Given the description of an element on the screen output the (x, y) to click on. 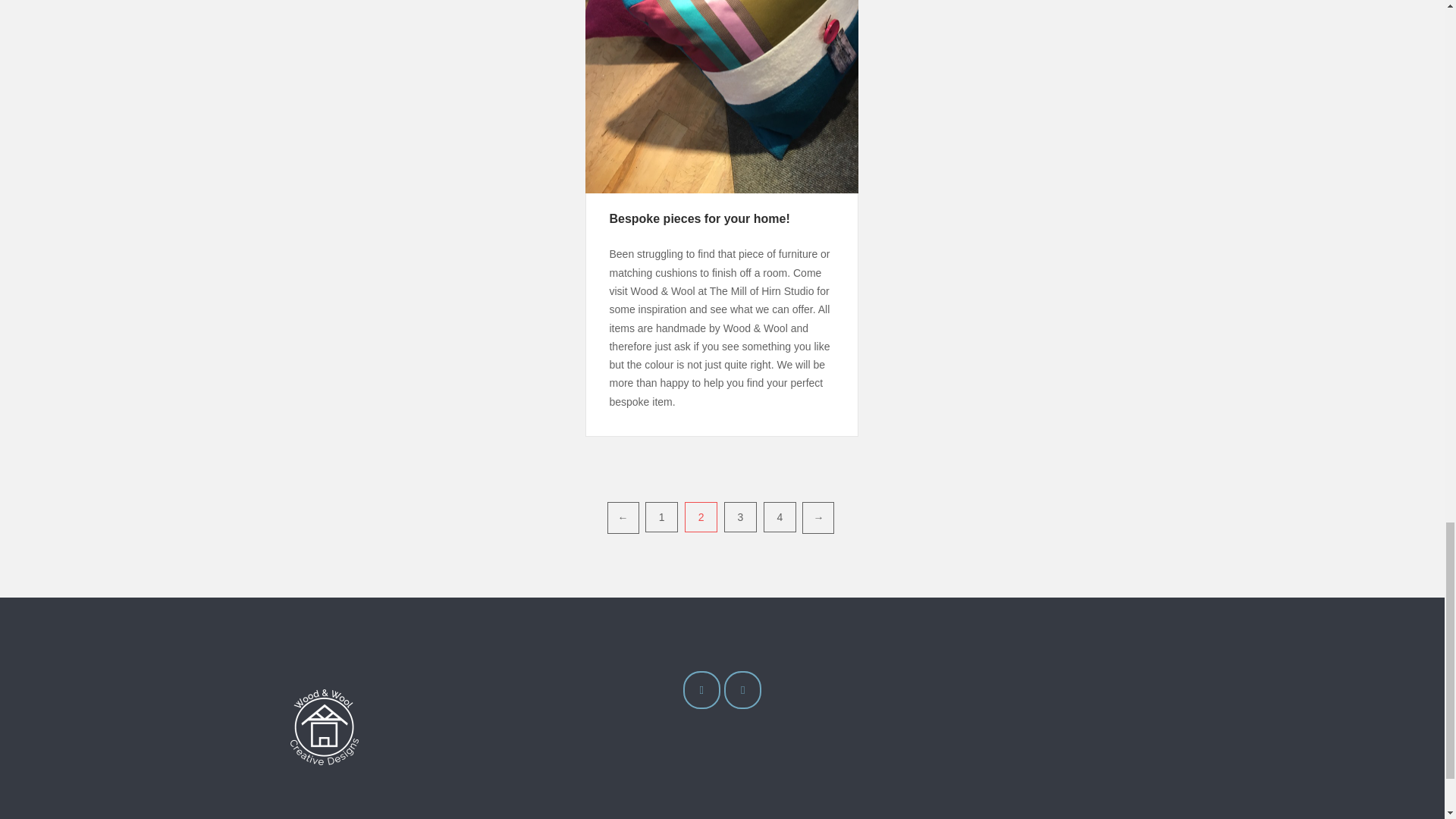
Wood and Wool on Instagram (701, 689)
Bespoke pieces for your home! (698, 218)
Wood and Wool on Facebook (742, 689)
